Given the description of an element on the screen output the (x, y) to click on. 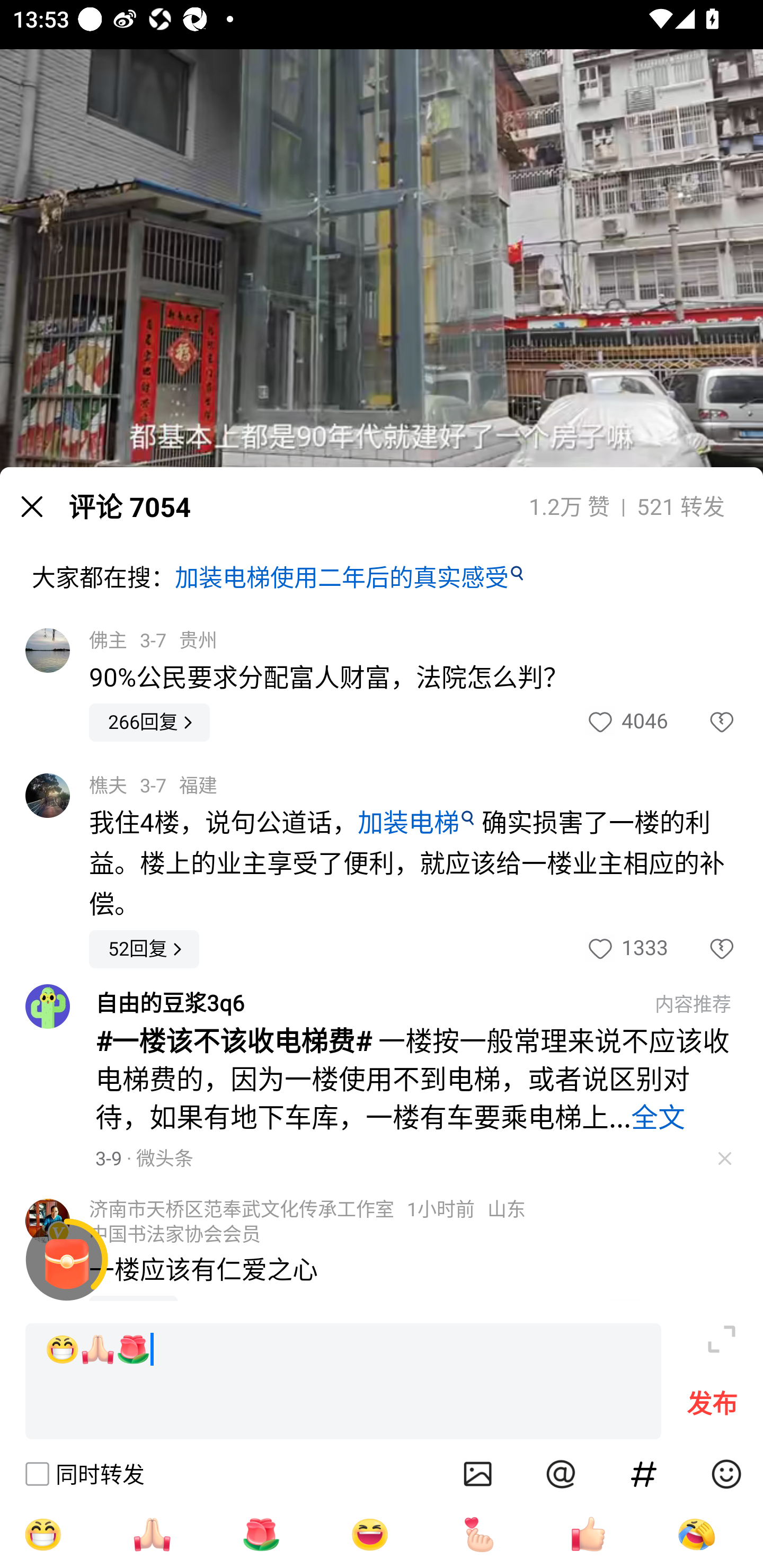
[呲牙][祈祷][玫瑰] (343, 1381)
全屏编辑 (721, 1338)
发布 (711, 1407)
同时转发 (83, 1473)
相册 (478, 1473)
at (560, 1473)
话题 (643, 1473)
表情 (726, 1473)
[呲牙] (42, 1534)
[祈祷] (152, 1534)
[玫瑰] (261, 1534)
[大笑] (369, 1534)
[比心] (478, 1534)
[赞] (588, 1534)
[捂脸] (696, 1534)
